Given the description of an element on the screen output the (x, y) to click on. 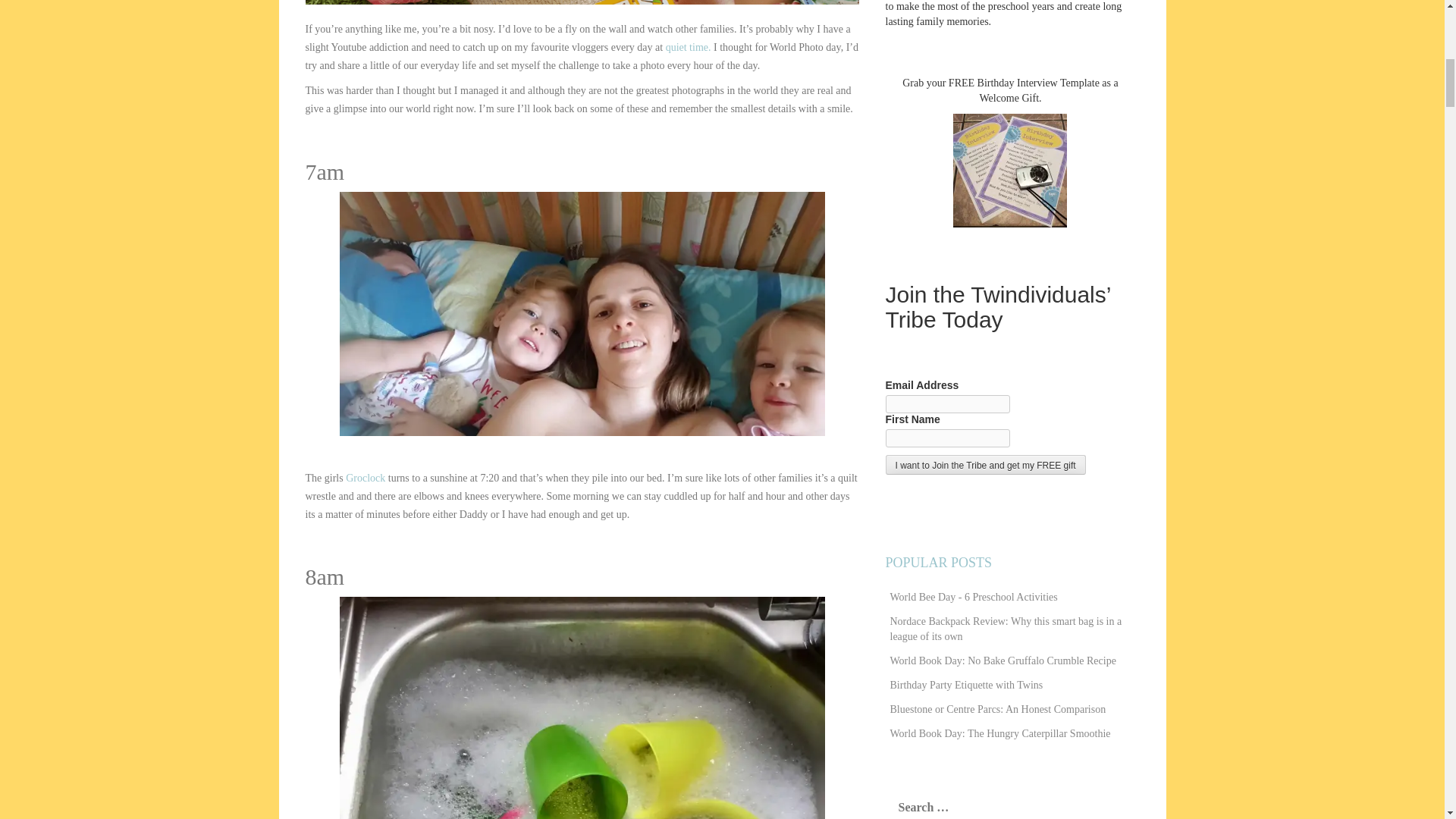
I want to Join the Tribe and get my FREE gift (985, 465)
Groclock (365, 478)
quiet time. (688, 47)
